Given the description of an element on the screen output the (x, y) to click on. 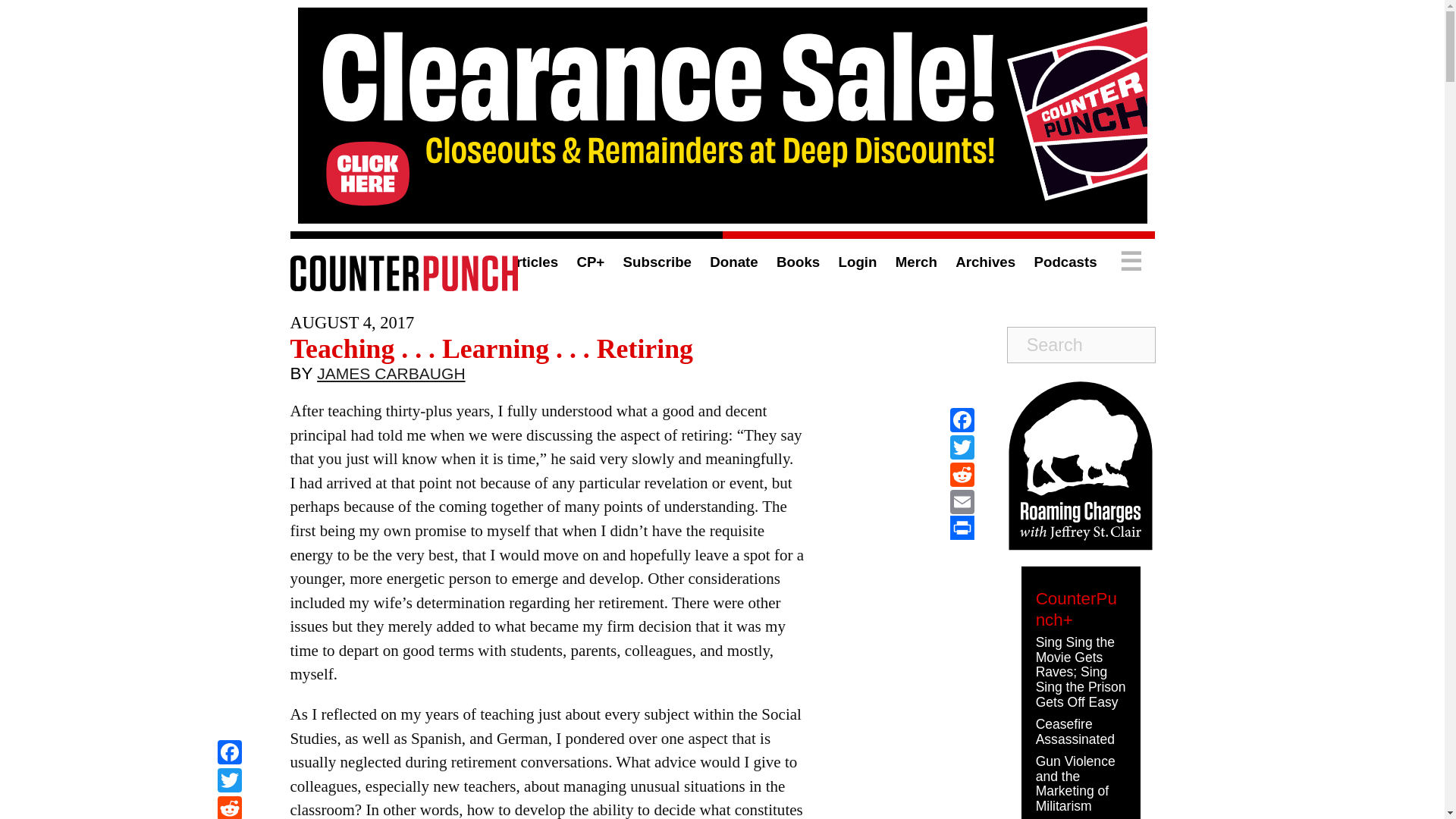
Facebook (962, 420)
Subscribe (657, 261)
Print This Post (962, 527)
Books (797, 261)
Archives (984, 261)
Articles (531, 261)
Login (857, 261)
Reddit (229, 807)
Donate (733, 261)
Email (962, 501)
